Given the description of an element on the screen output the (x, y) to click on. 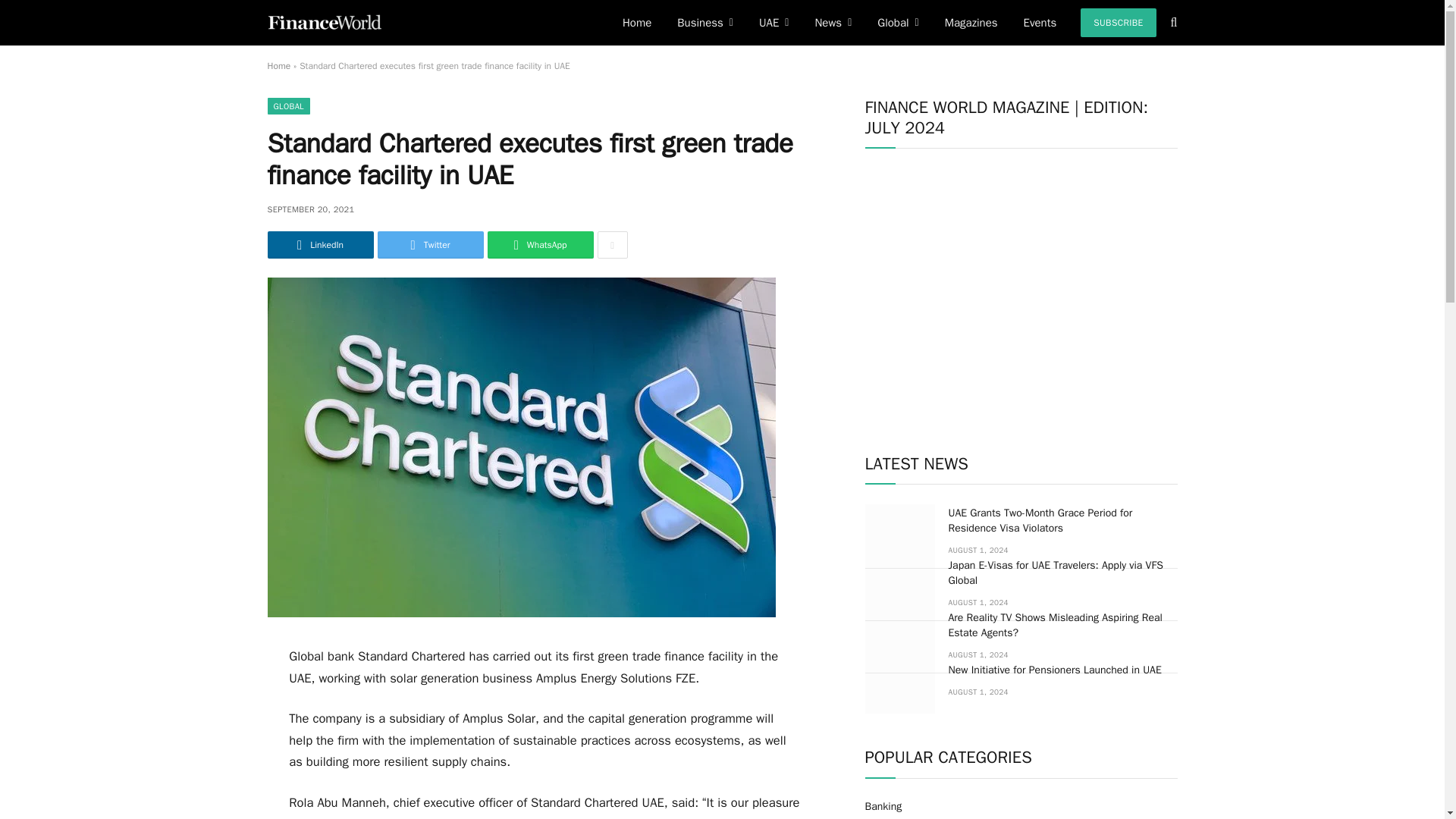
News (833, 22)
UAE (773, 22)
Business (704, 22)
Home (636, 22)
